Given the description of an element on the screen output the (x, y) to click on. 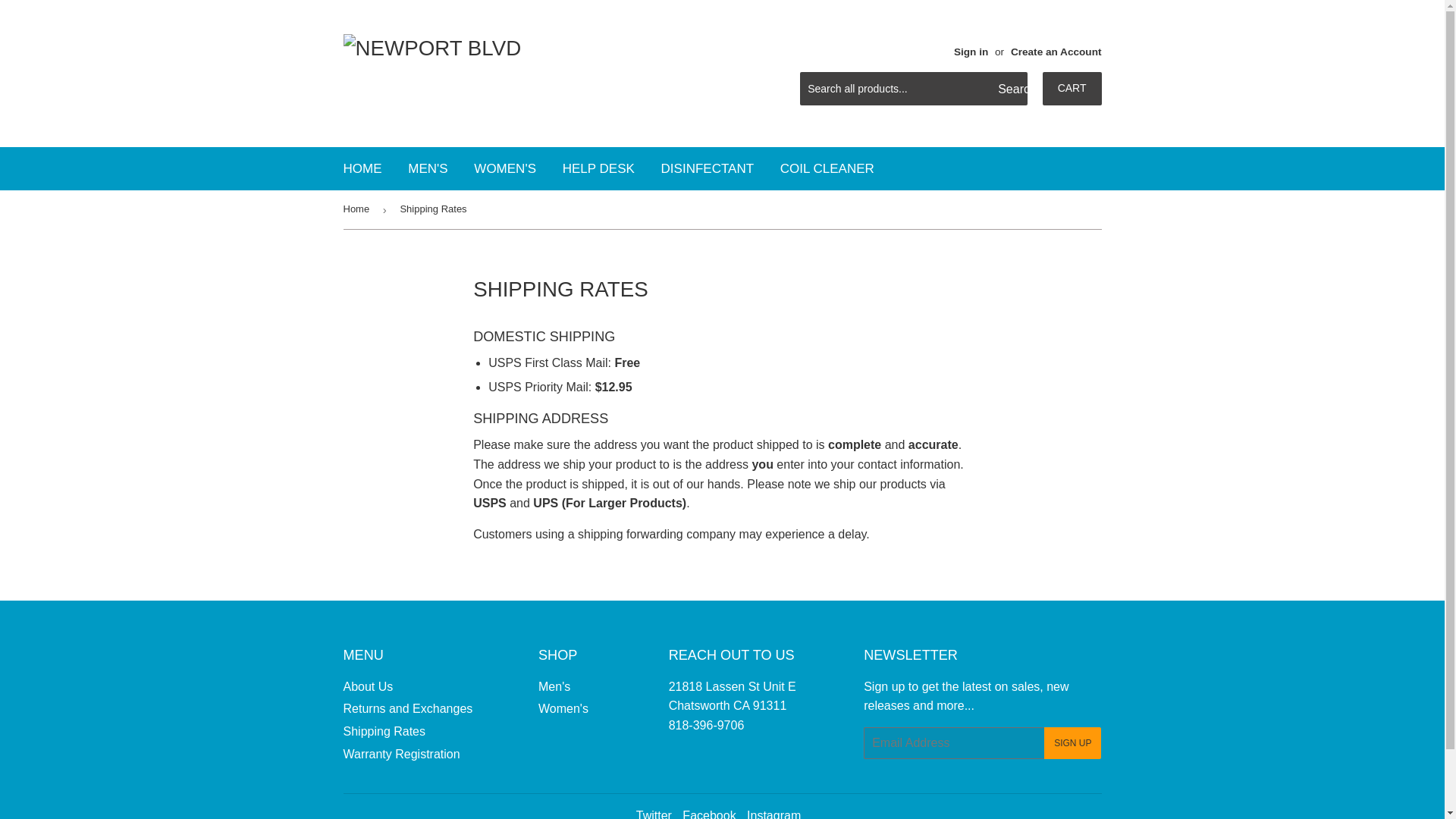
Search (1009, 89)
Newport Blvd on Instagram (773, 814)
Newport Blvd on Facebook (708, 814)
Create an Account (1056, 51)
Sign in (970, 51)
CART (1072, 88)
HOME (362, 168)
WOMEN'S (505, 168)
MEN'S (427, 168)
Newport Blvd on Twitter (653, 814)
